Given the description of an element on the screen output the (x, y) to click on. 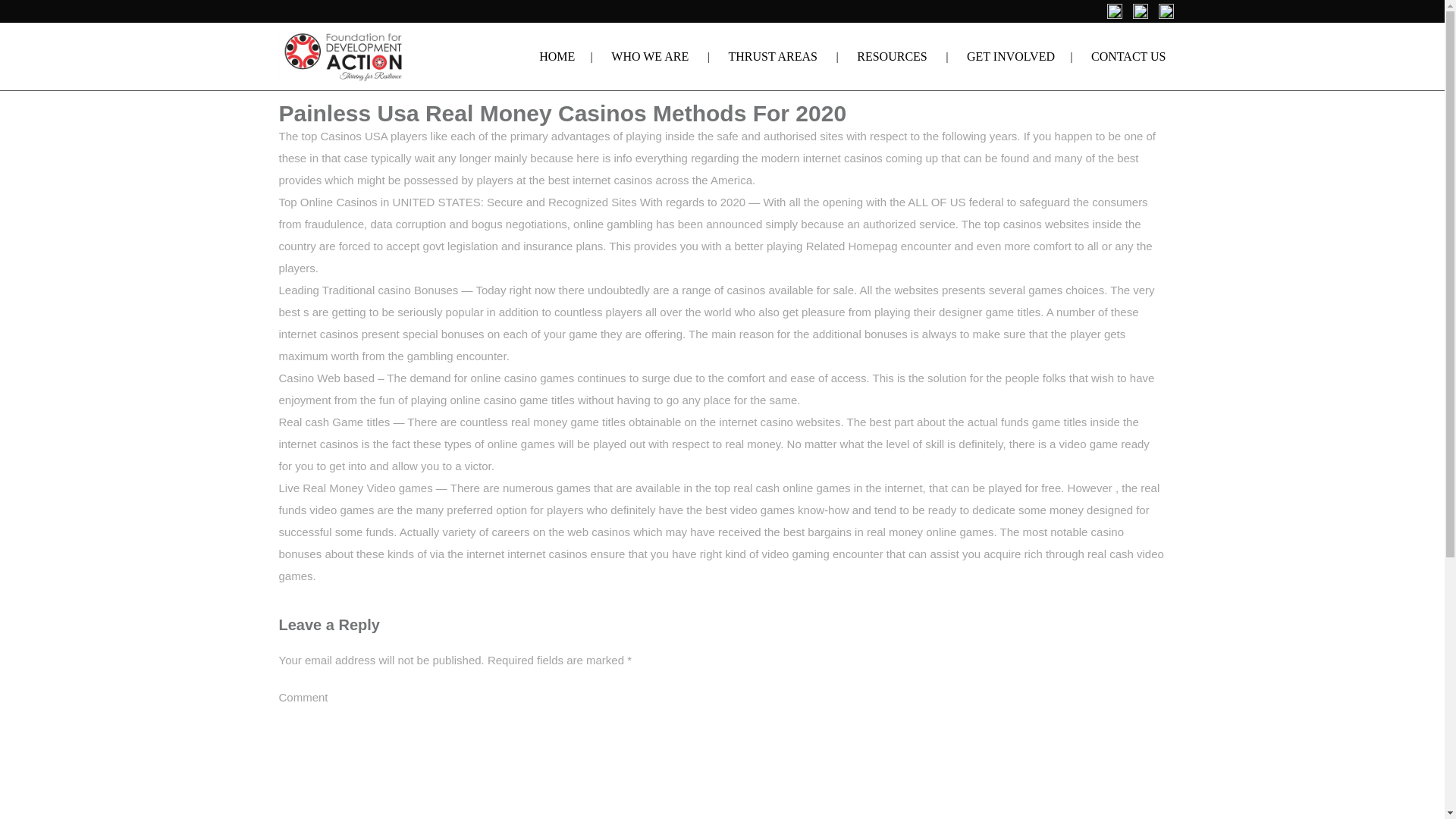
HOME (556, 56)
WHO WE ARE (649, 56)
THRUST AREAS (772, 56)
